Given the description of an element on the screen output the (x, y) to click on. 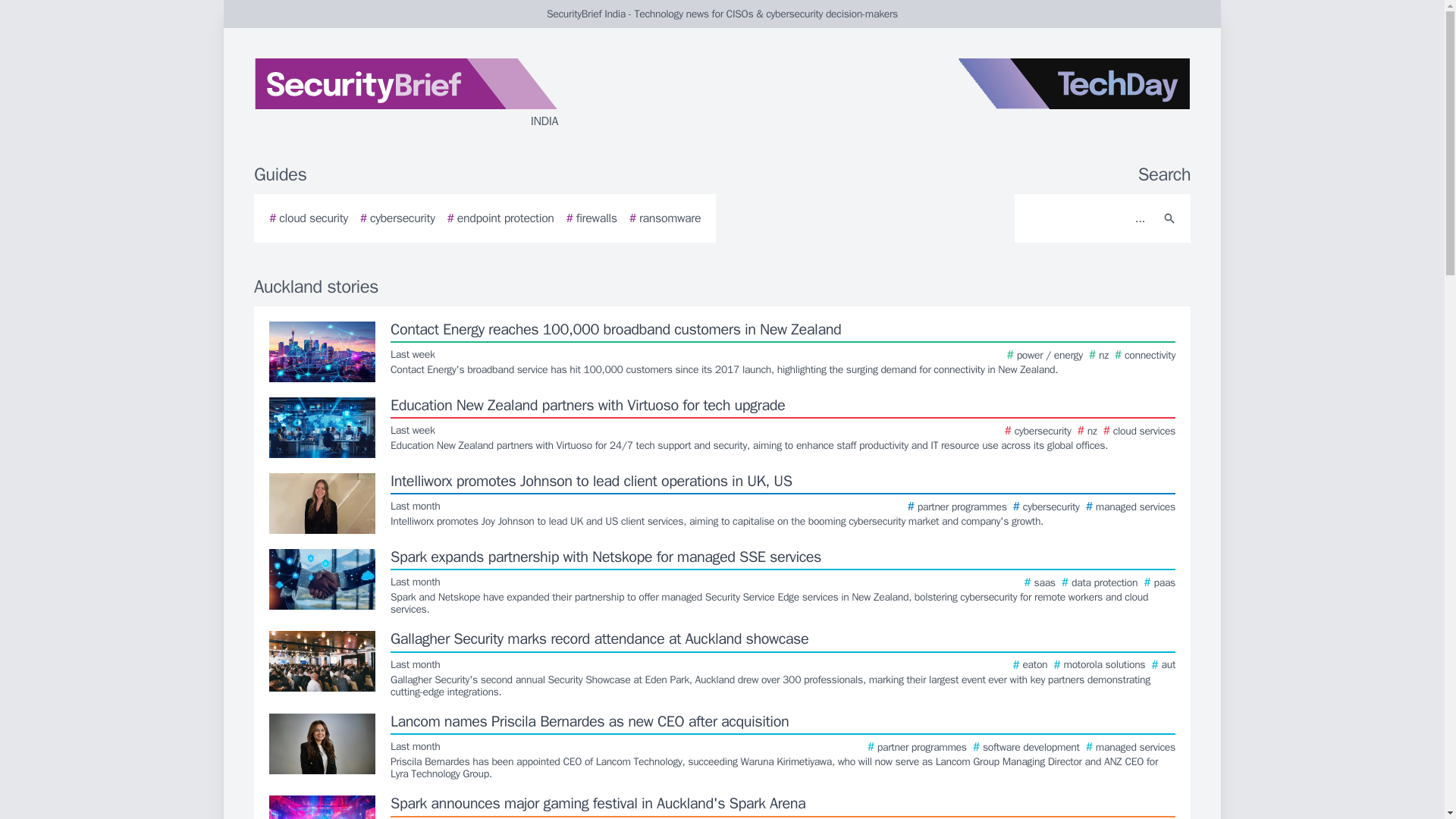
INDIA (435, 94)
